Given the description of an element on the screen output the (x, y) to click on. 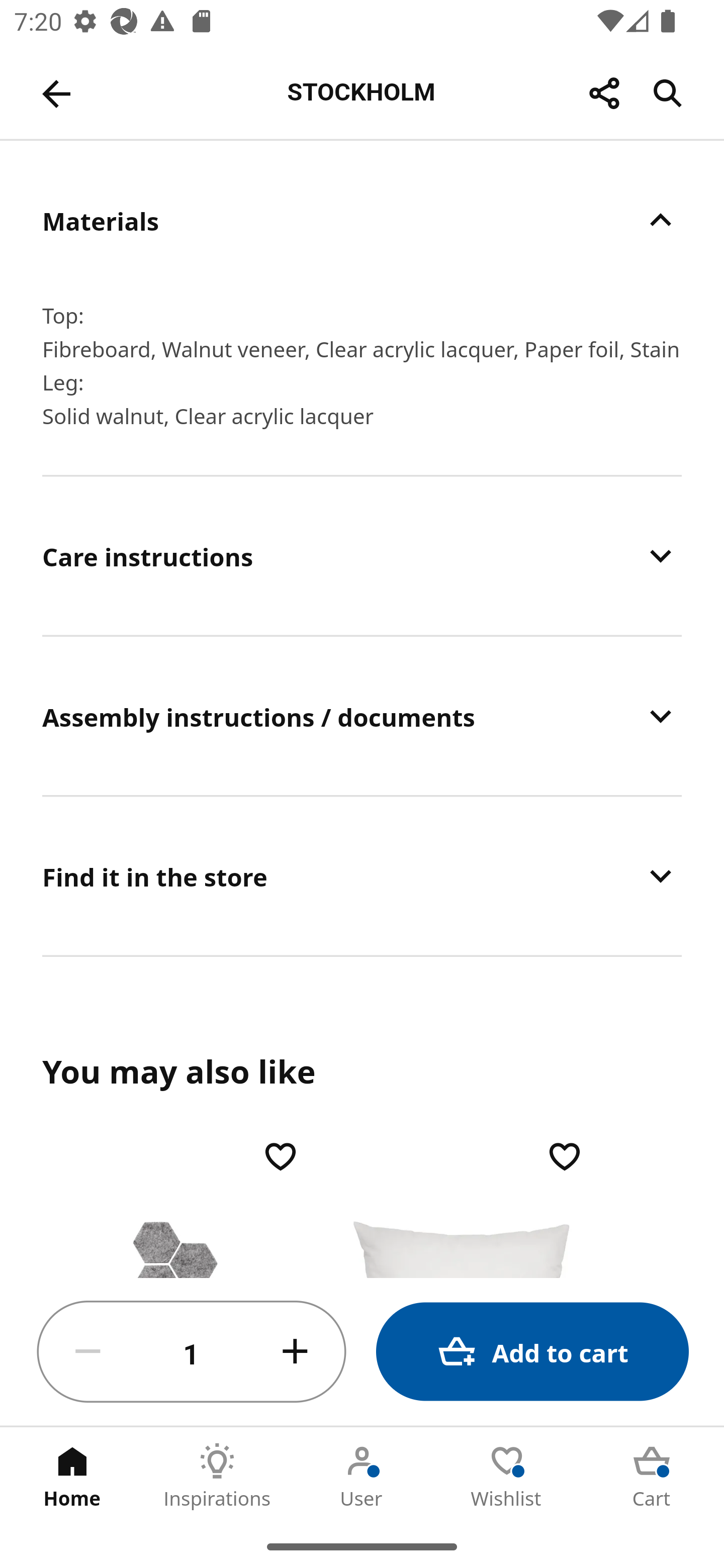
Materials (361, 219)
Care instructions (361, 555)
Assembly instructions / documents (361, 715)
Find it in the store (361, 875)
Add to cart (531, 1352)
1 (191, 1352)
Home
Tab 1 of 5 (72, 1476)
Inspirations
Tab 2 of 5 (216, 1476)
User
Tab 3 of 5 (361, 1476)
Wishlist
Tab 4 of 5 (506, 1476)
Cart
Tab 5 of 5 (651, 1476)
